Given the description of an element on the screen output the (x, y) to click on. 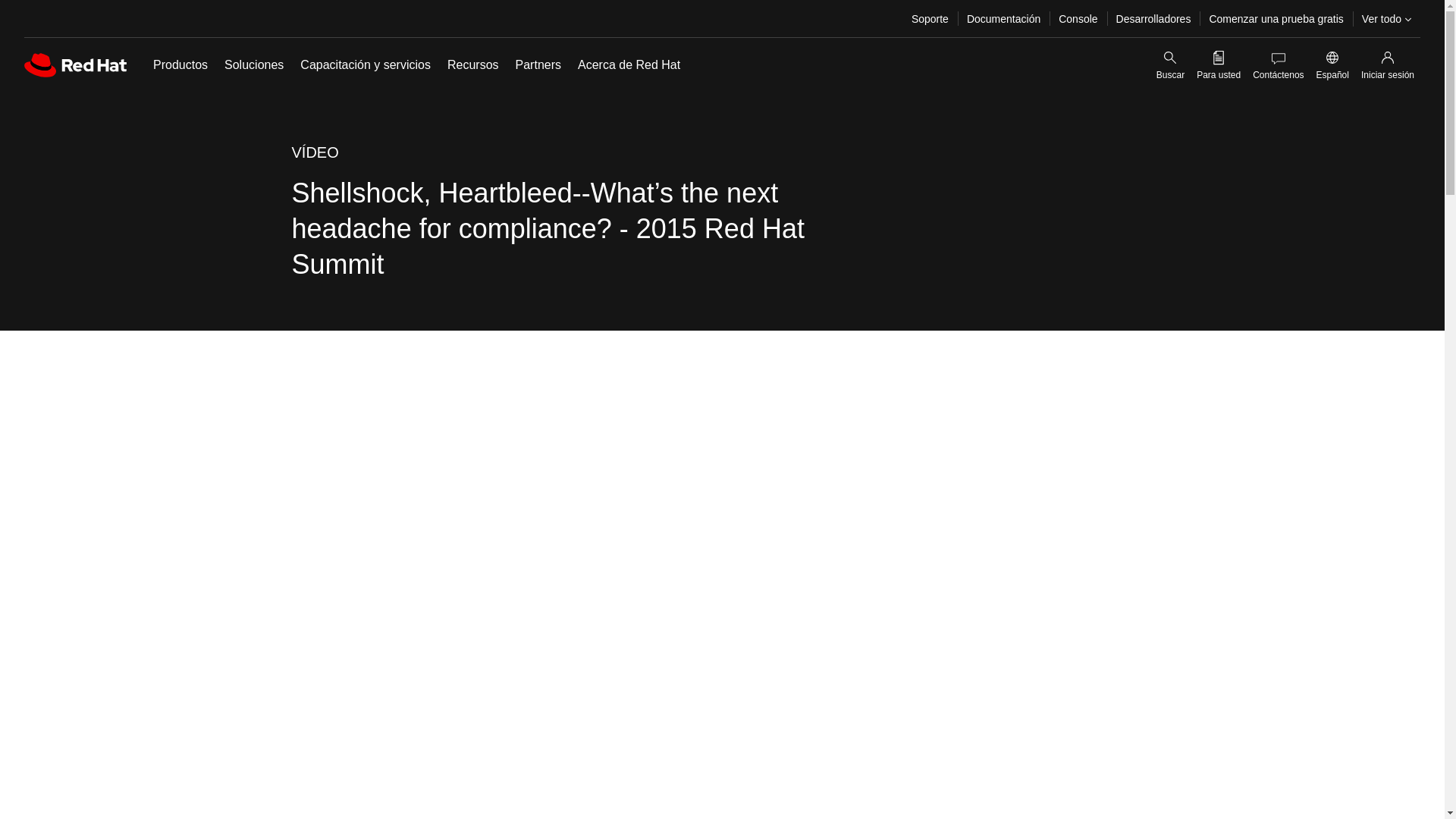
Console (1077, 18)
Desarrolladores (1152, 18)
Soporte (930, 18)
Ver todo (1386, 18)
Comenzar una prueba gratis (1275, 18)
